Given the description of an element on the screen output the (x, y) to click on. 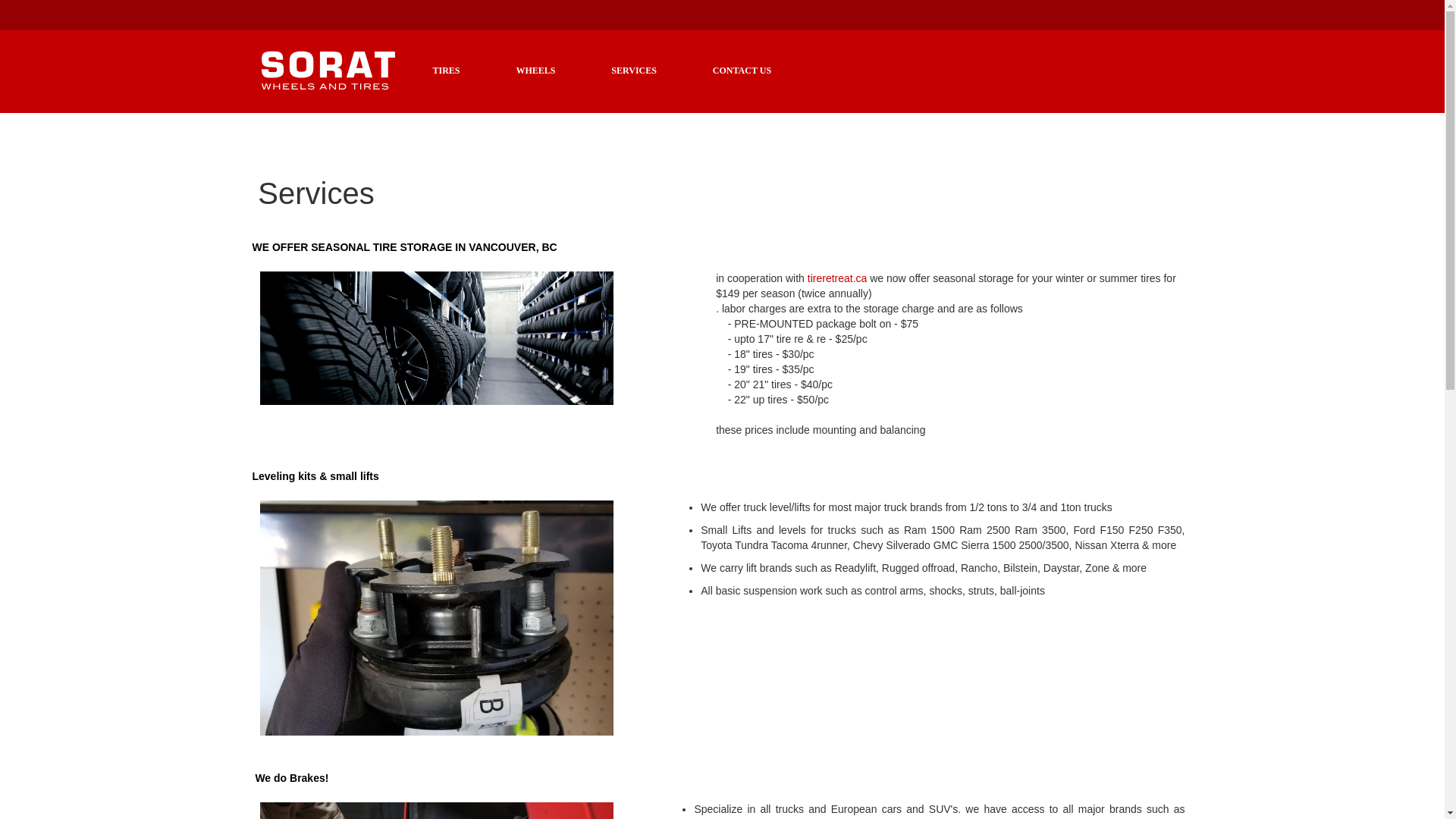
Home (264, 28)
tireretreat.ca (837, 277)
Soratwheels.ca (327, 70)
Go to Home Page (264, 28)
TIRES (445, 70)
SERVICES (633, 70)
WHEELS (535, 70)
CONTACT US (741, 70)
